Given the description of an element on the screen output the (x, y) to click on. 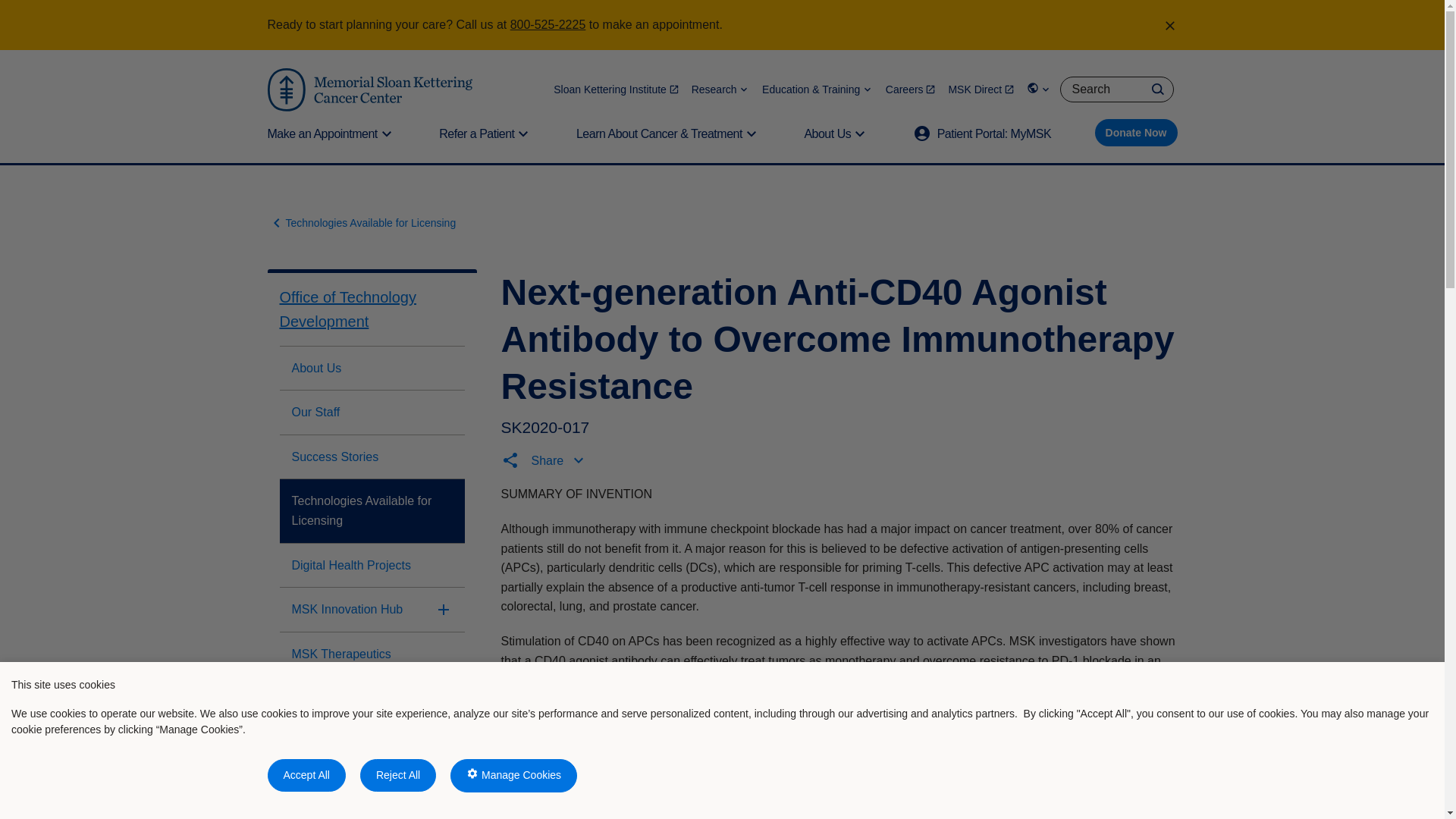
Sloan Kettering Institute (615, 89)
Accept All (305, 775)
Reject All (397, 775)
Donate Now (1135, 132)
Insert a query. Press enter to send (1115, 88)
Research (720, 89)
800-525-2225 (548, 24)
Manage Cookies (512, 775)
